Given the description of an element on the screen output the (x, y) to click on. 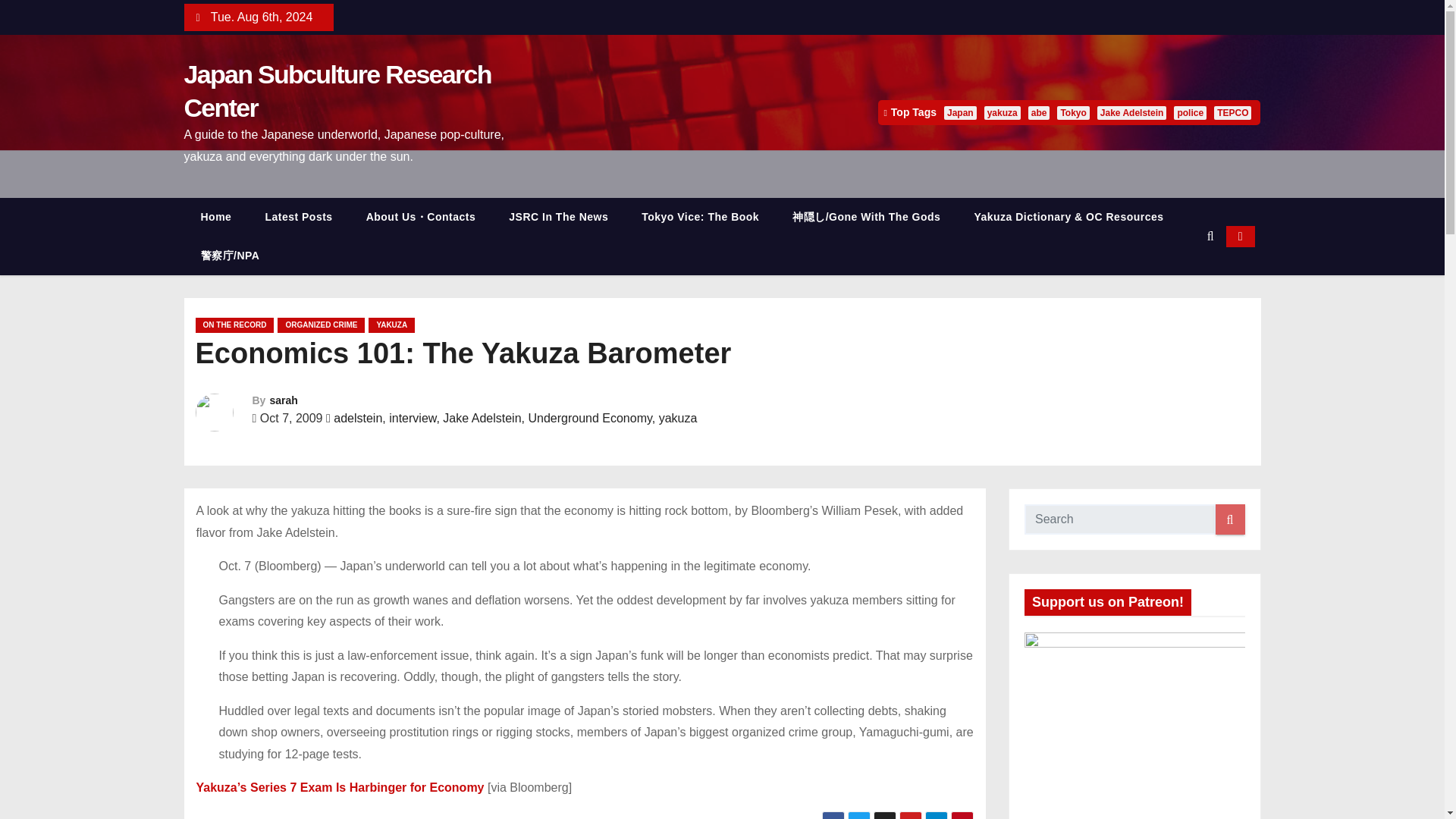
Japan Subculture Research Center (336, 90)
ORGANIZED CRIME (321, 324)
Japan (959, 112)
Home (215, 217)
yakuza (1002, 112)
Tokyo (1073, 112)
Jake Adelstein (1132, 112)
abe (1038, 112)
police (1190, 112)
Tokyo Vice: The Book (700, 217)
Latest Posts (298, 217)
Home (215, 217)
YAKUZA (391, 324)
ON THE RECORD (235, 324)
JSRC In The News (558, 217)
